Given the description of an element on the screen output the (x, y) to click on. 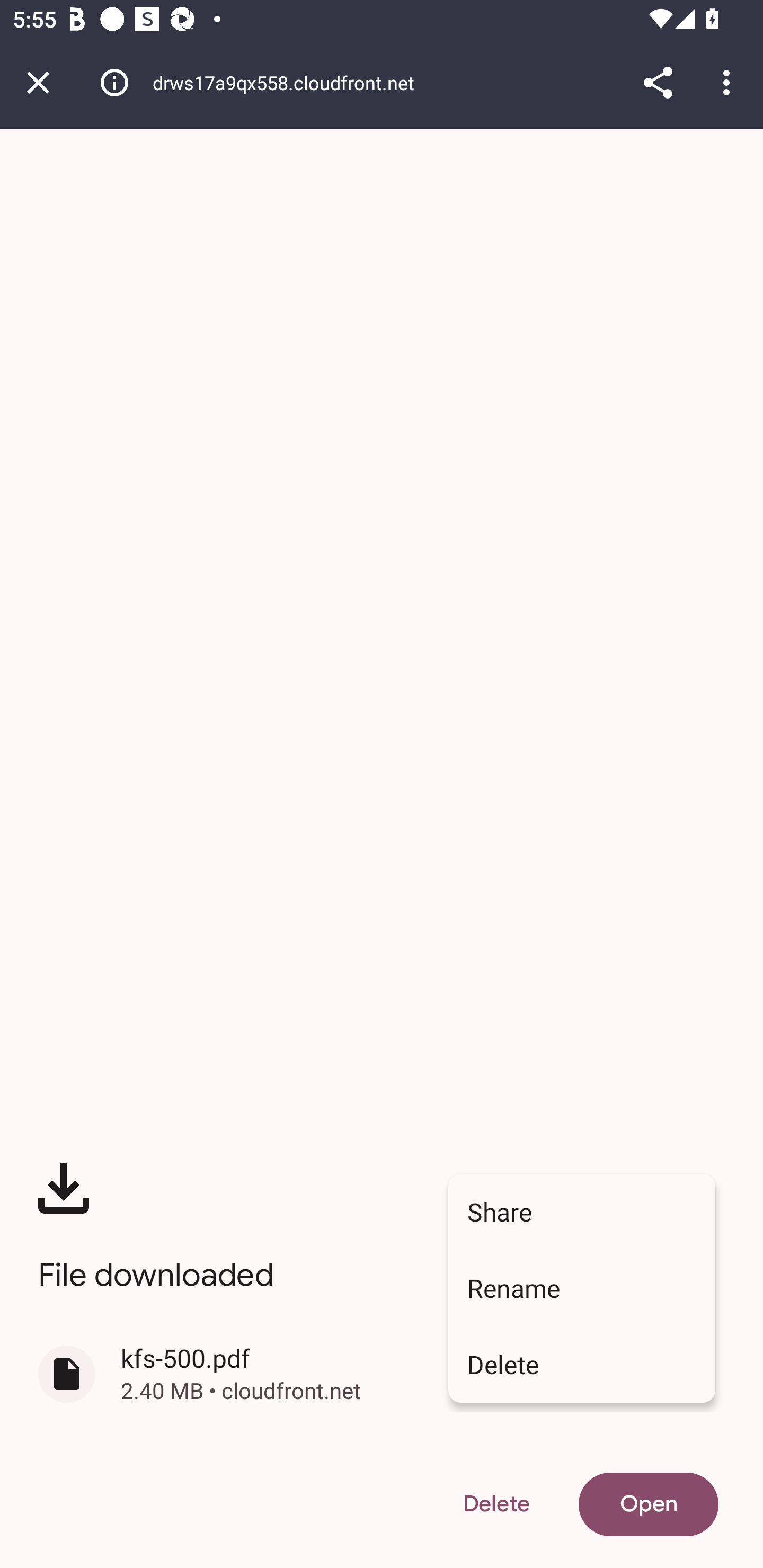
Share (581, 1211)
Rename (581, 1287)
Delete (581, 1364)
